Given the description of an element on the screen output the (x, y) to click on. 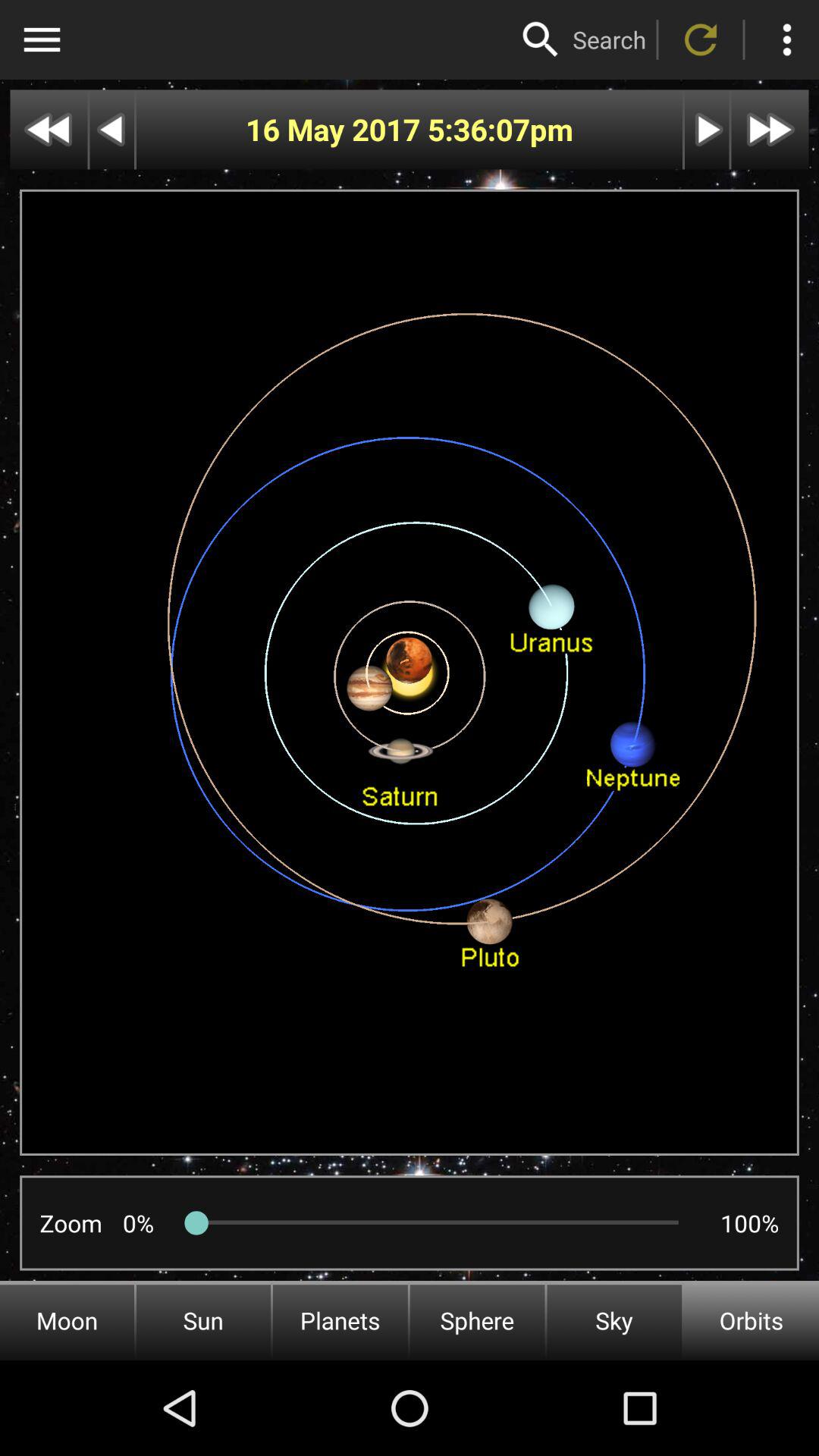
turn on item next to the search (540, 39)
